Given the description of an element on the screen output the (x, y) to click on. 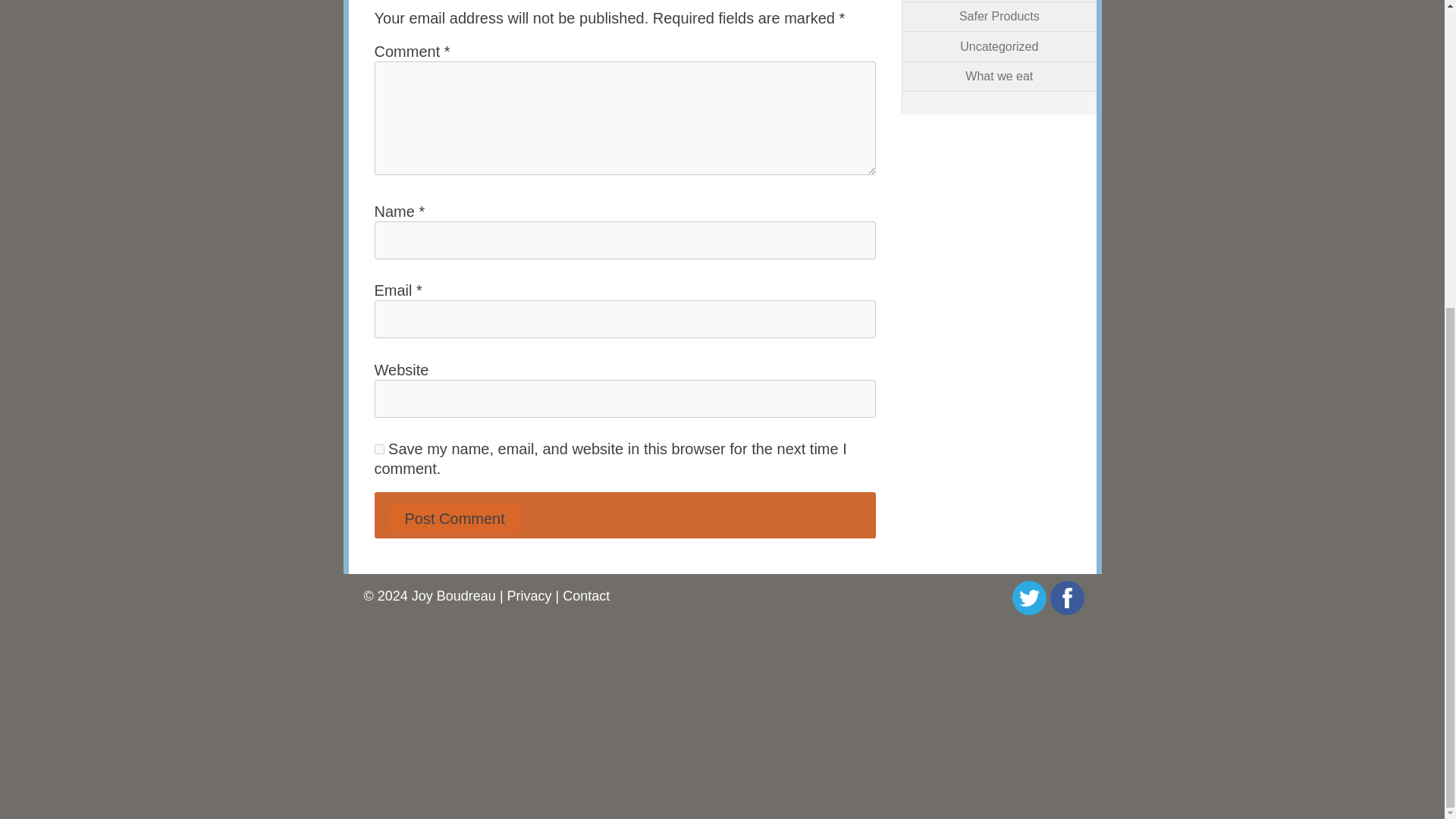
Post Comment (454, 518)
Post Comment (454, 518)
Privacy (528, 595)
Contact (586, 595)
What we eat (998, 75)
Uncategorized (998, 46)
Safer Products (999, 15)
yes (379, 449)
